Given the description of an element on the screen output the (x, y) to click on. 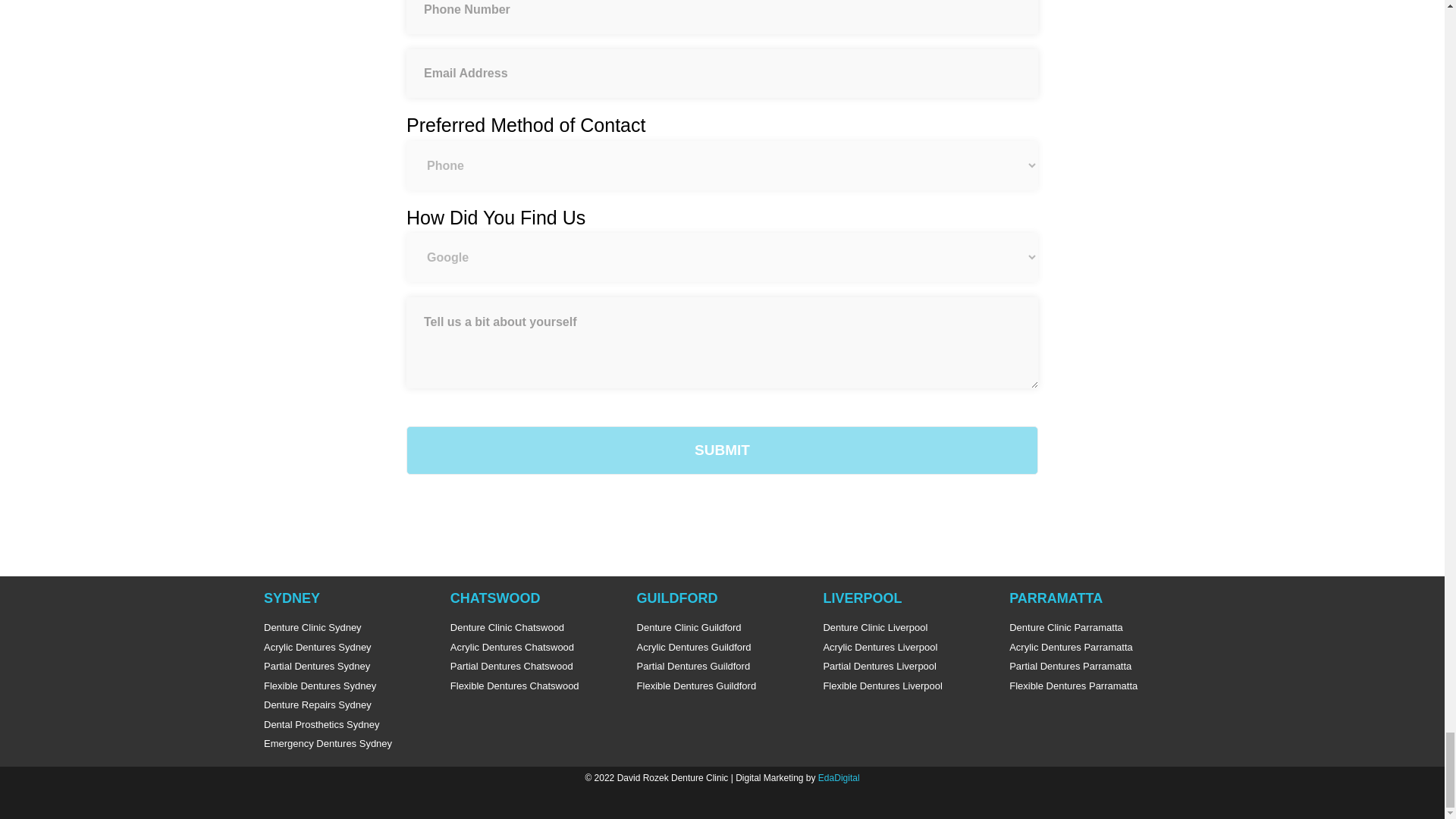
Partial Dentures Chatswood (535, 666)
Denture Repairs Sydney (349, 704)
Denture Clinic Liverpool (908, 627)
Acrylic Dentures Chatswood (535, 647)
Acrylic Dentures Liverpool (908, 647)
Flexible Dentures Sydney (349, 685)
Flexible Dentures Guildford (722, 685)
Partial Dentures Sydney (349, 666)
Dental Prosthetics Sydney (349, 724)
Partial Dentures Parramatta (1094, 666)
Denture Clinic Parramatta (1094, 627)
Denture Clinic Chatswood (535, 627)
Denture Clinic Sydney (349, 627)
Flexible Dentures Chatswood (535, 685)
Flexible Dentures Liverpool (908, 685)
